Given the description of an element on the screen output the (x, y) to click on. 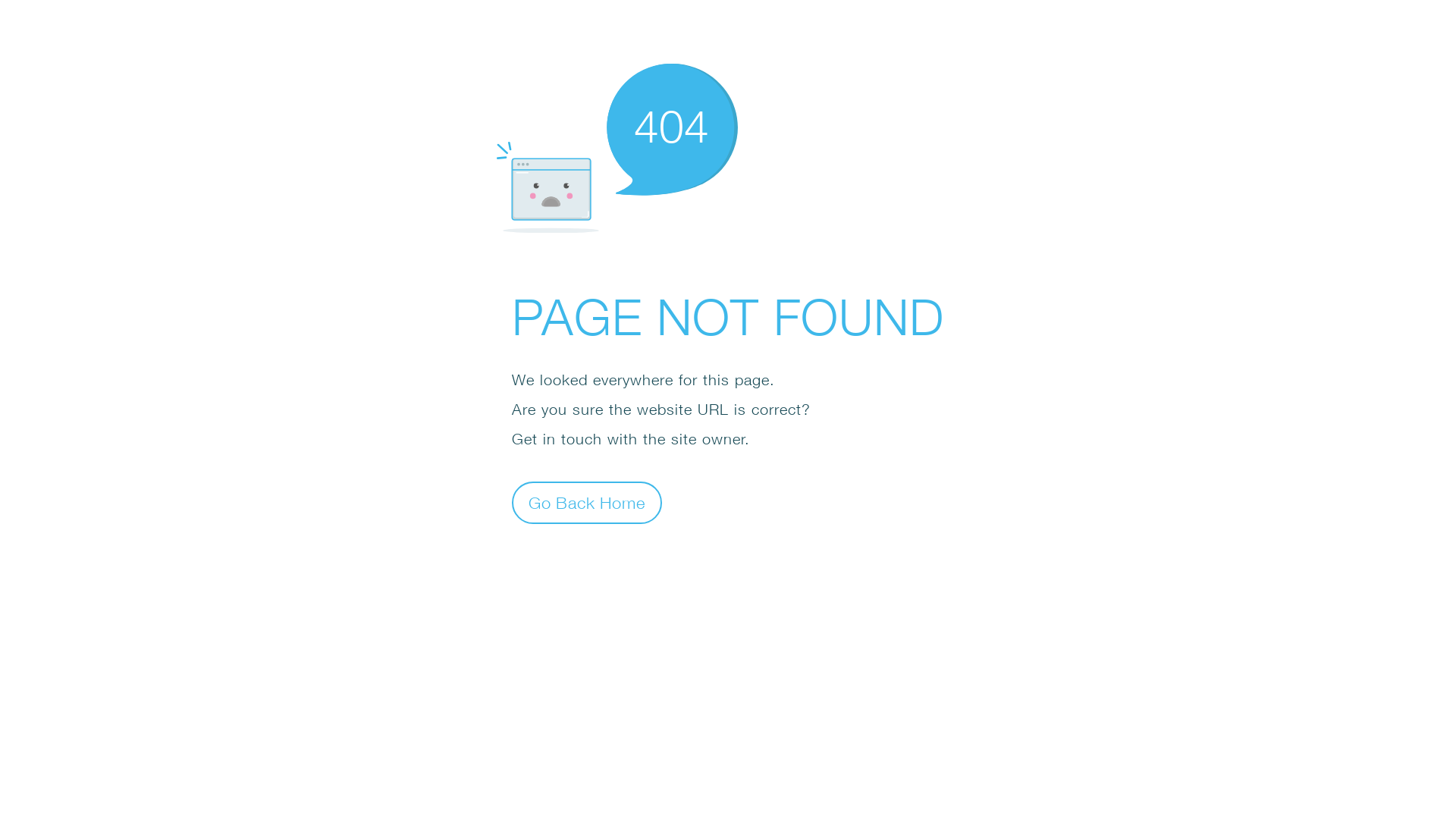
Go Back Home Element type: text (586, 502)
